Given the description of an element on the screen output the (x, y) to click on. 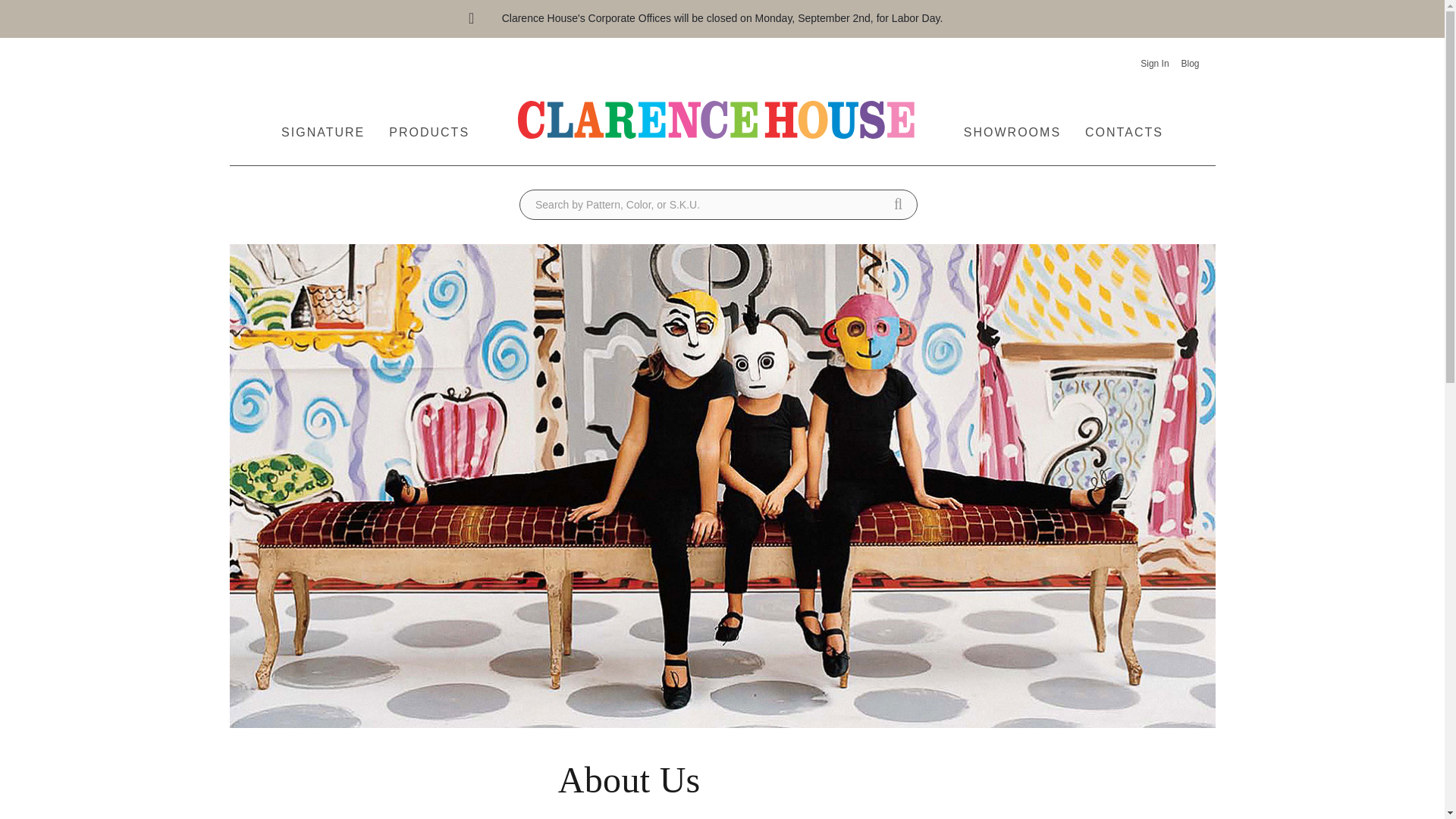
Submit search query (898, 204)
Close announcement banner (471, 18)
SIGNATURE (323, 123)
CONTACTS (1123, 123)
PRODUCTS (429, 123)
SHOWROOMS (1012, 123)
